Given the description of an element on the screen output the (x, y) to click on. 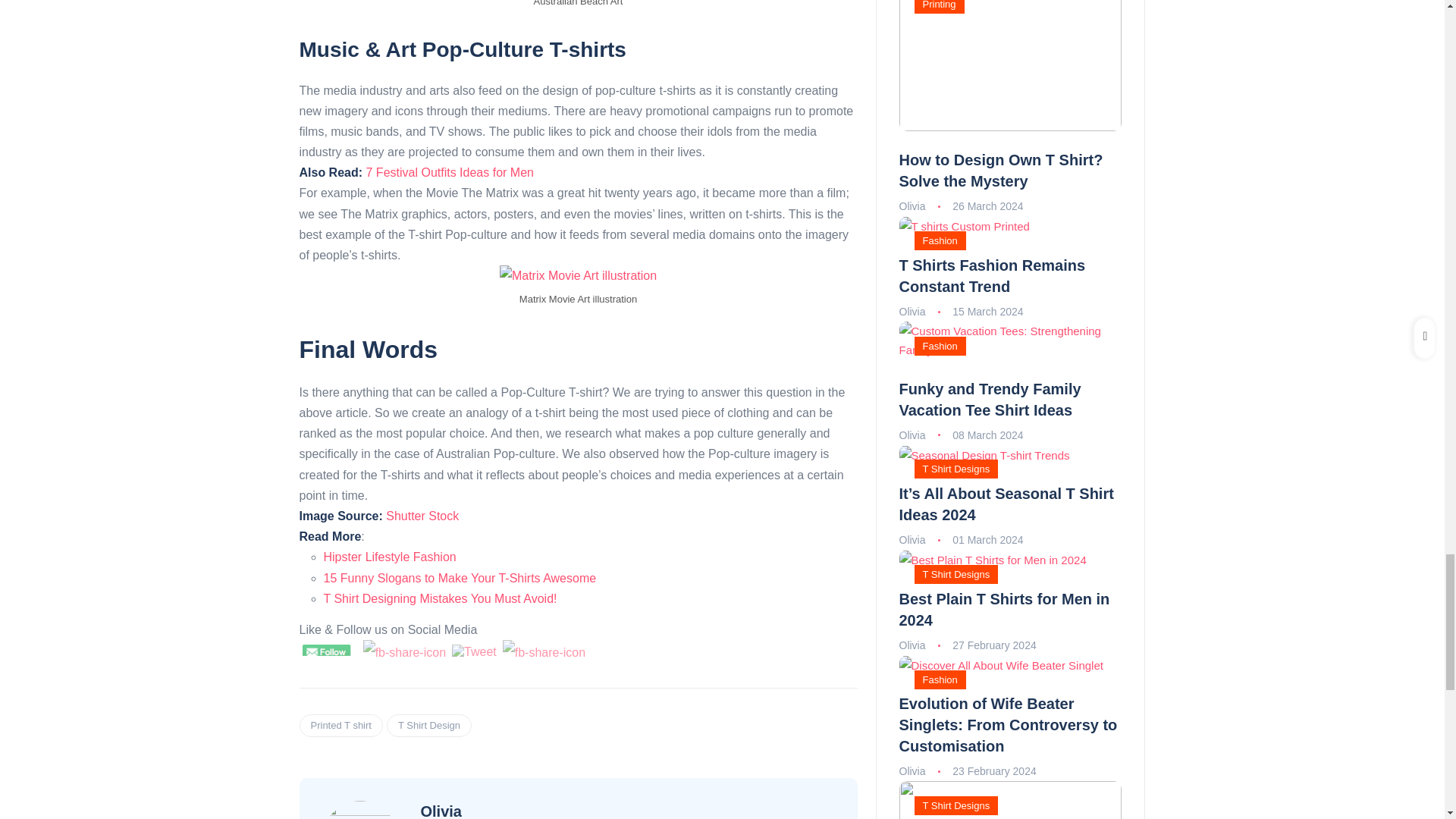
Posts by Olivia (912, 311)
Pin Share (543, 652)
Posts by Olivia (912, 205)
Posts by Olivia (912, 435)
Tweet (473, 652)
Facebook Share (403, 652)
